Given the description of an element on the screen output the (x, y) to click on. 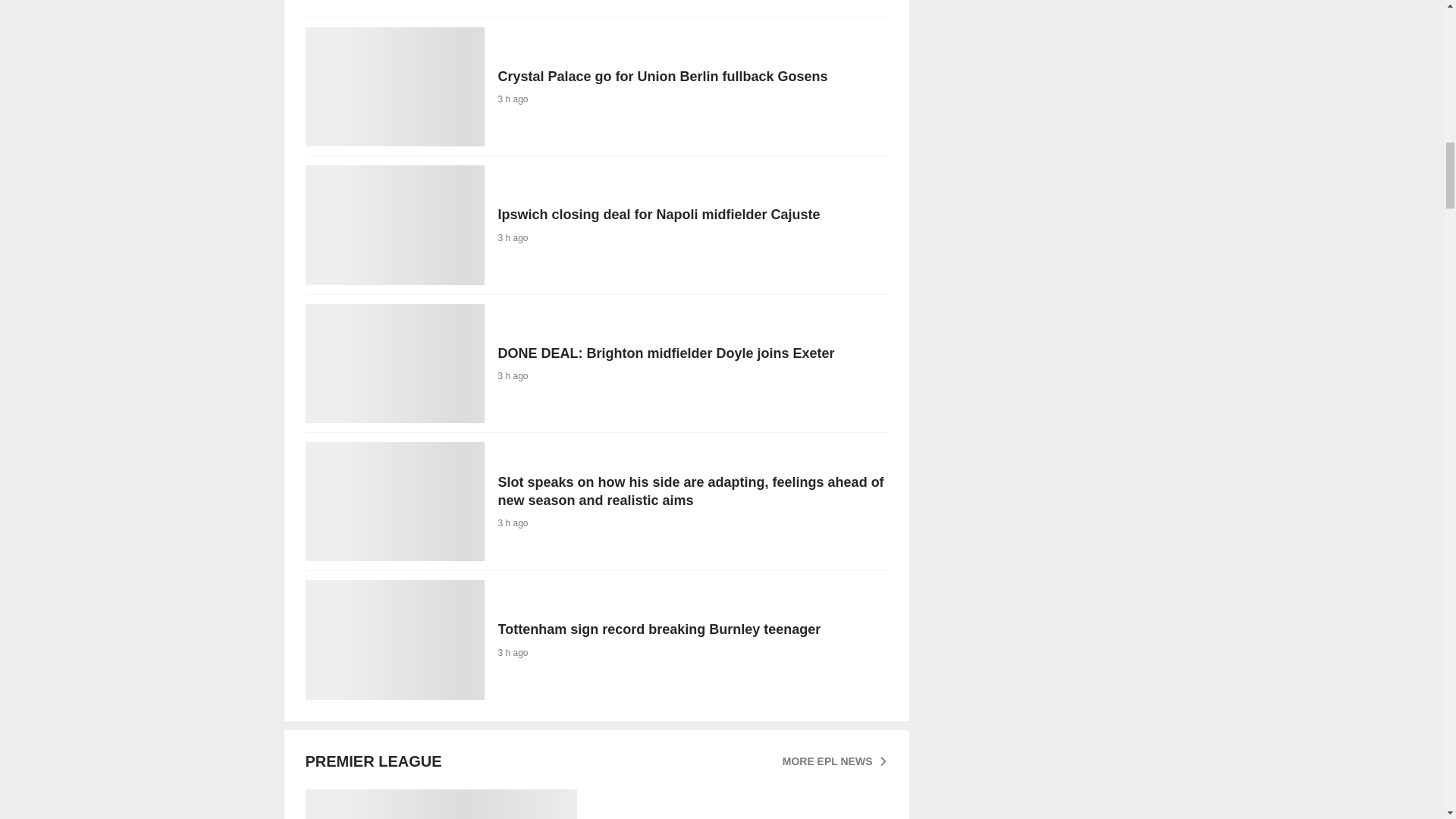
MORE EPL NEWS (595, 804)
